Given the description of an element on the screen output the (x, y) to click on. 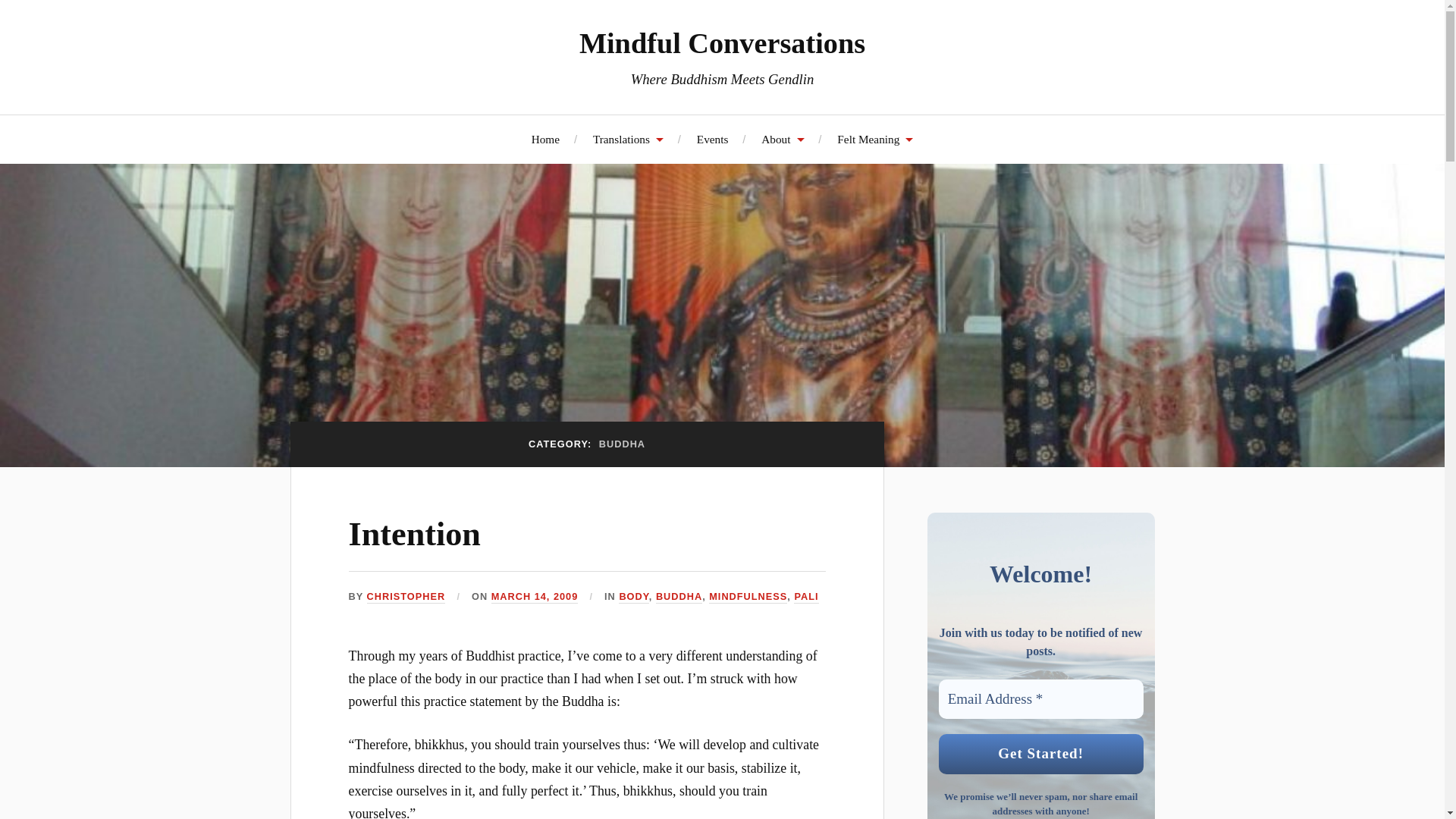
Translations (627, 138)
Posts by Christopher (405, 596)
Email Address (1040, 699)
Get Started! (1040, 753)
Mindful Conversations (721, 42)
